Given the description of an element on the screen output the (x, y) to click on. 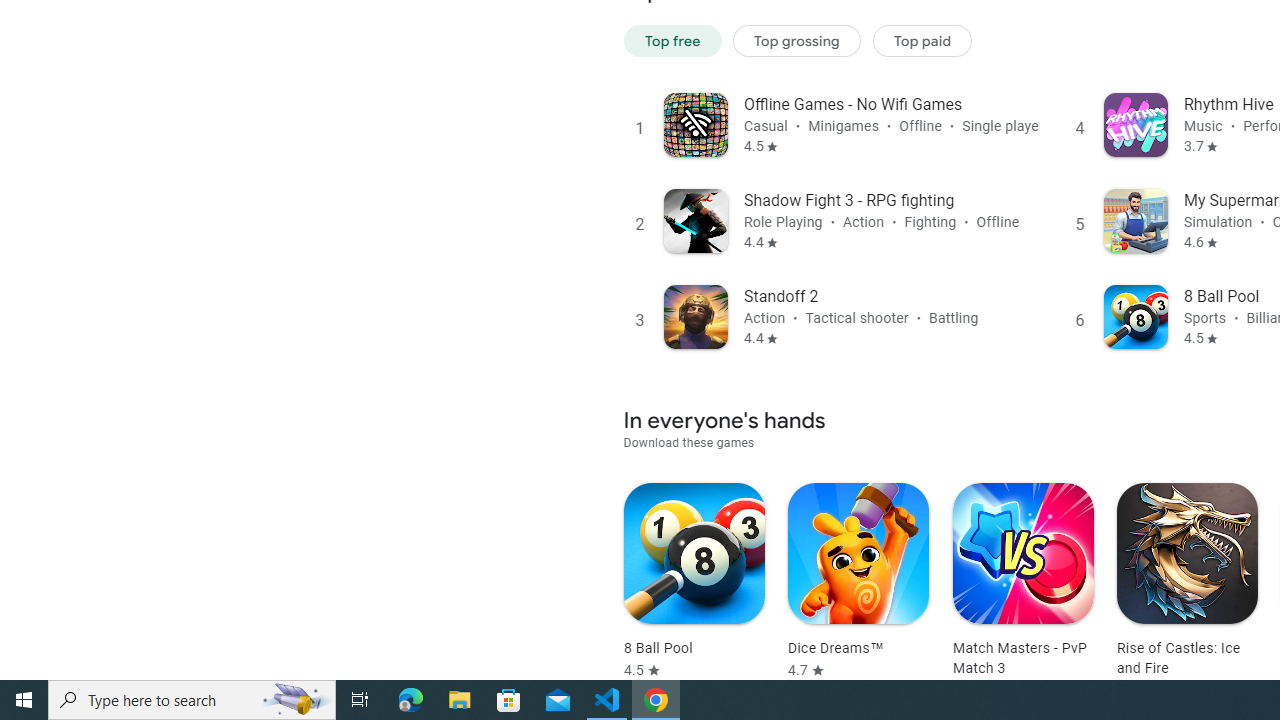
Top paid (922, 39)
Top grossing (797, 39)
8 Ball Pool Rated 4.5 stars out of five stars (694, 581)
Top free (672, 39)
